Given the description of an element on the screen output the (x, y) to click on. 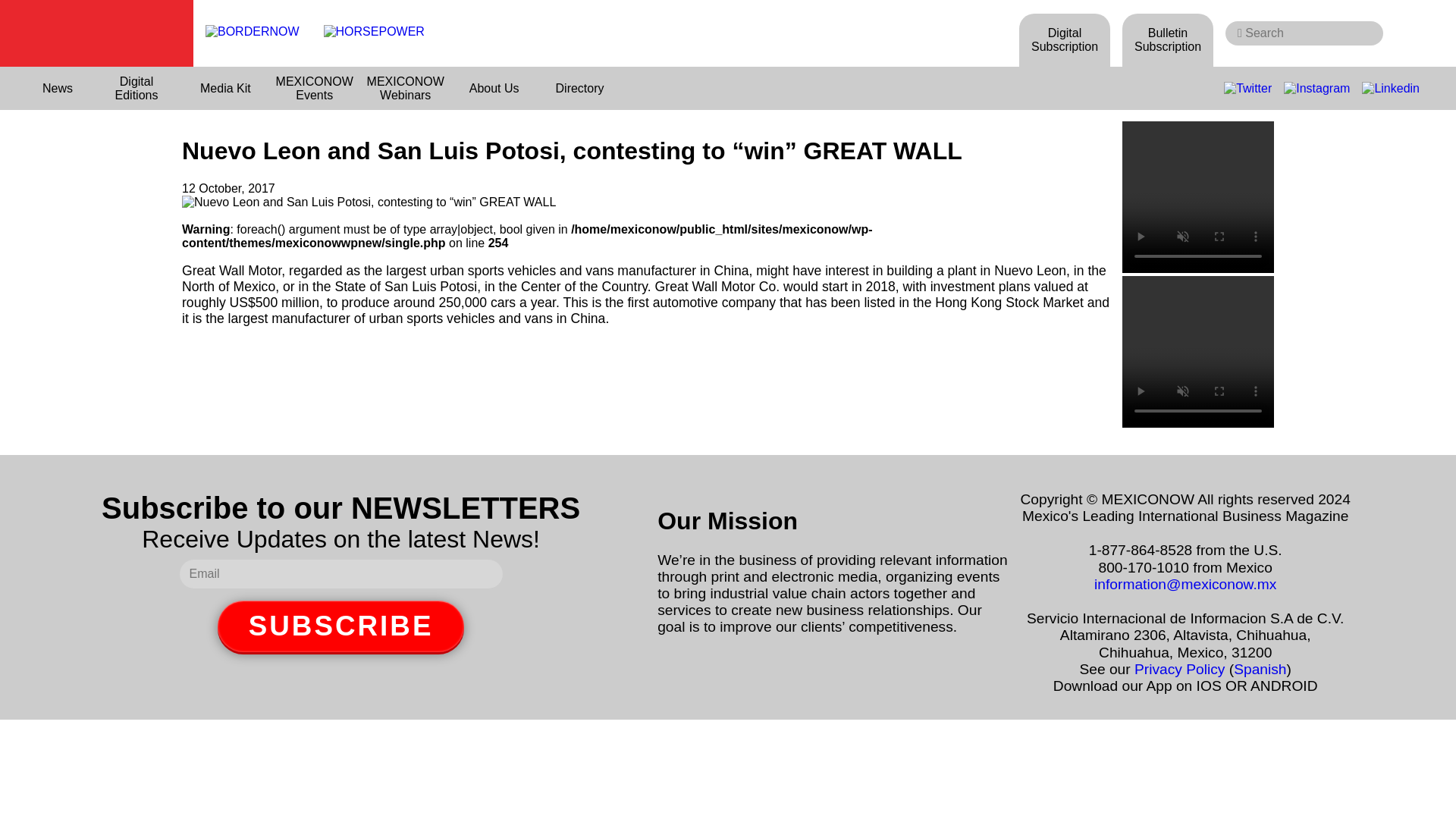
Bulletin Subscription (1167, 39)
About Us (494, 87)
Media Kit (225, 87)
Digital Subscription (1064, 39)
MEXICONOW Webinars (405, 87)
News (57, 87)
Digital Editions (136, 87)
MEXICONOW Events (314, 87)
Directory (580, 87)
